Given the description of an element on the screen output the (x, y) to click on. 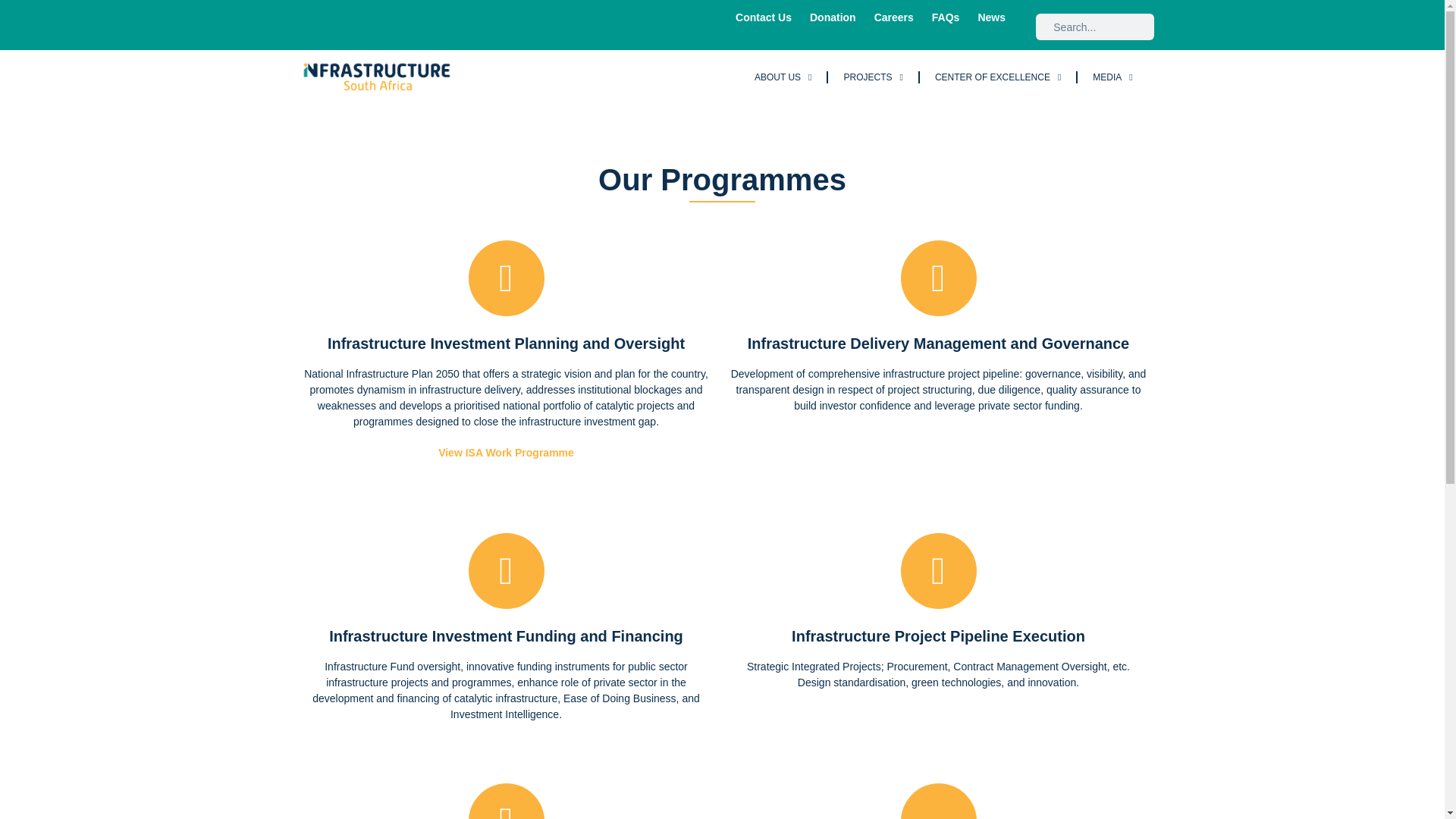
FAQs (946, 17)
CENTER OF EXCELLENCE (997, 77)
Careers (893, 17)
ABOUT US (783, 77)
PROJECTS (872, 77)
News (991, 17)
Contact Us (763, 17)
Donation (832, 17)
